Given the description of an element on the screen output the (x, y) to click on. 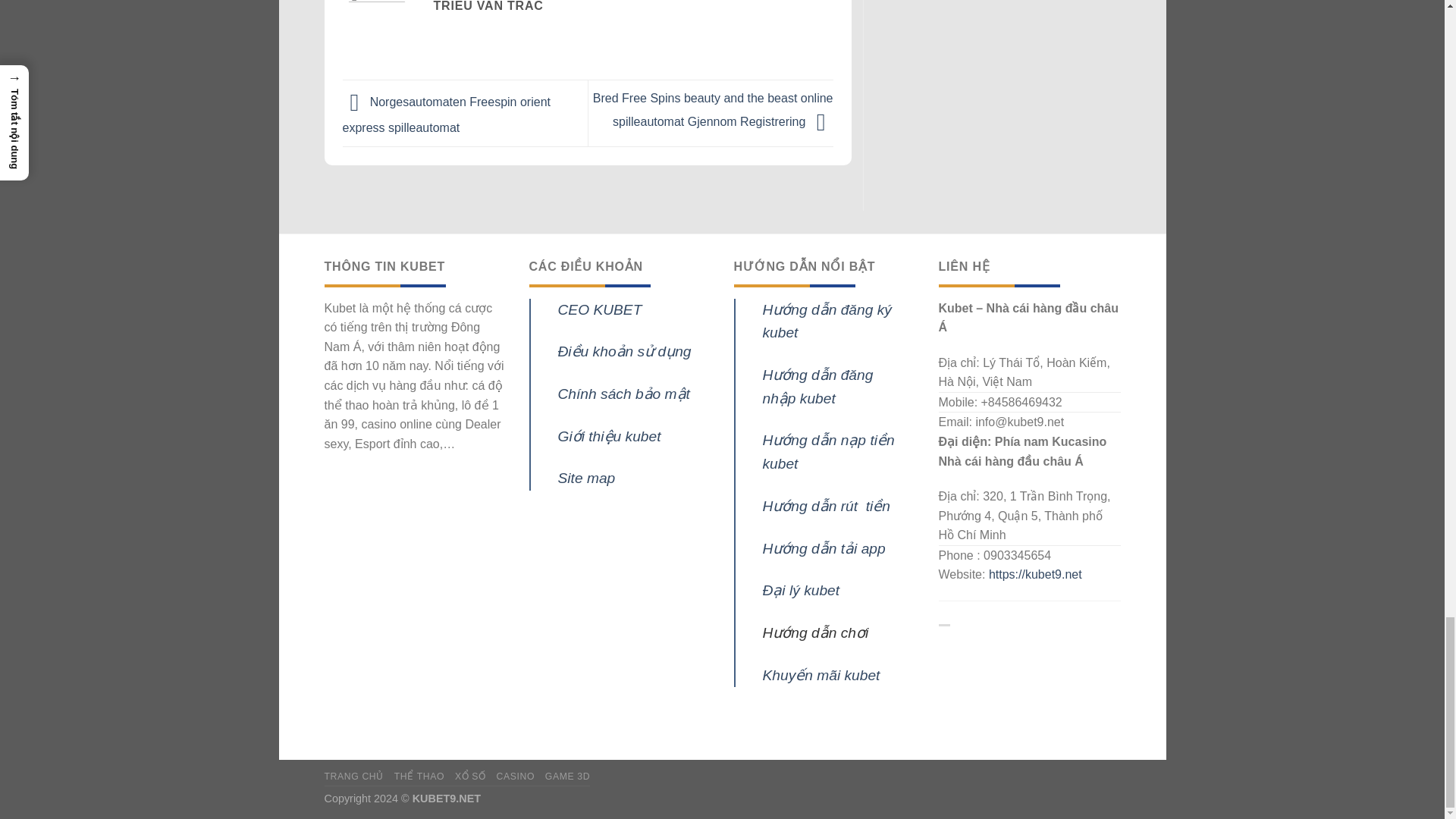
Norgesautomaten Freespin orient express spilleautomat (446, 115)
